Given the description of an element on the screen output the (x, y) to click on. 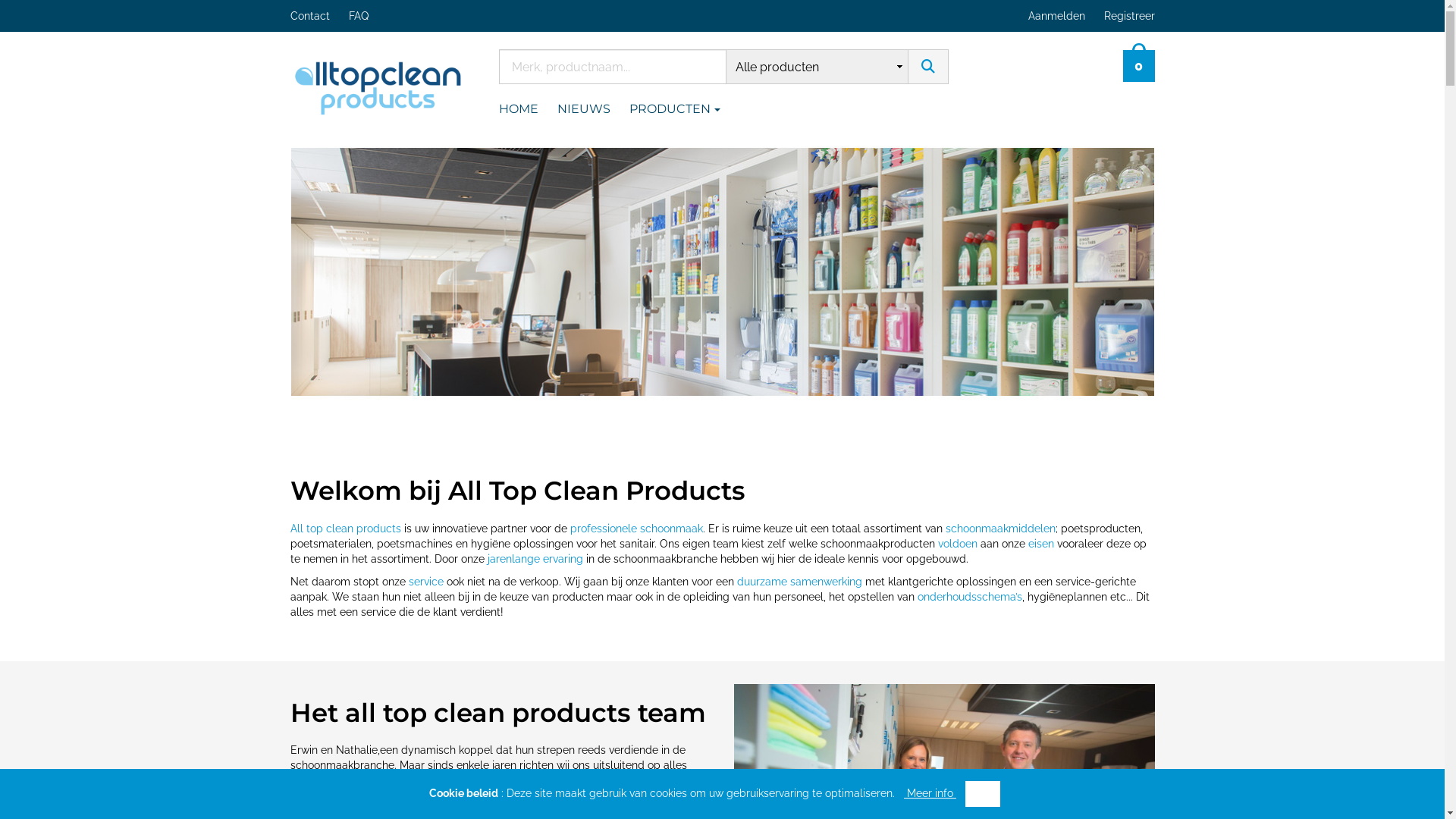
Contact Element type: text (318, 15)
FAQ Element type: text (367, 15)
Registreer Element type: text (1131, 15)
All top clean products Element type: hover (376, 84)
HOME Element type: text (527, 109)
PRODUCTEN Element type: text (684, 109)
OK Element type: text (982, 793)
NIEUWS Element type: text (593, 109)
Aanmelden Element type: text (1058, 15)
Meer info Element type: text (929, 793)
